Given the description of an element on the screen output the (x, y) to click on. 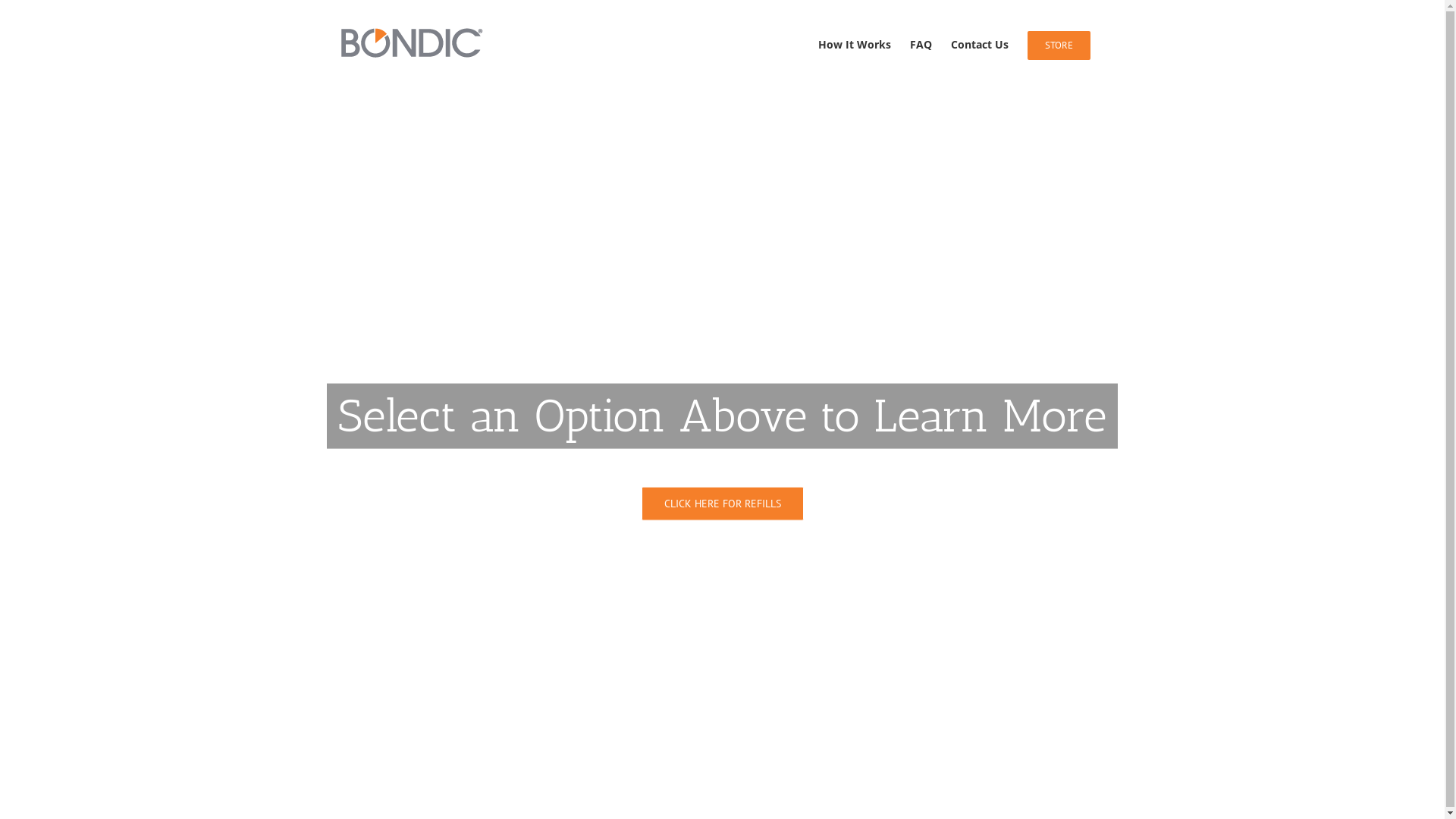
STORE Element type: text (1057, 42)
CLICK HERE FOR REFILLS Element type: text (722, 503)
How It Works Element type: text (853, 42)
FAQ Element type: text (920, 42)
Contact Us Element type: text (979, 42)
